Given the description of an element on the screen output the (x, y) to click on. 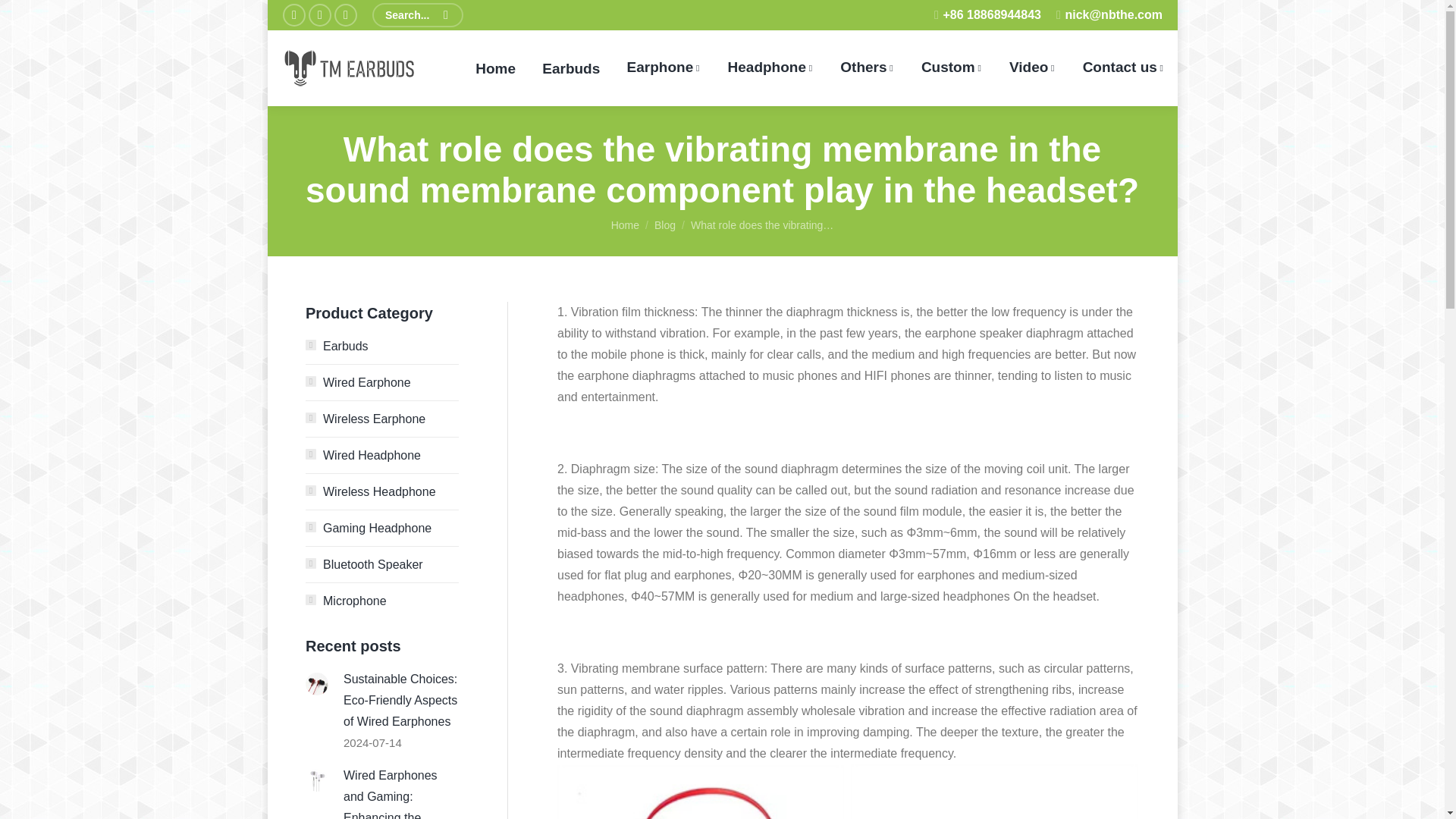
Earbuds (570, 68)
Dribbble (344, 15)
Custom (950, 68)
Go! (30, 15)
Earphone (662, 68)
Facebook (293, 15)
Facebook (293, 15)
Video (1031, 68)
Twitter (318, 15)
Others (867, 68)
